Given the description of an element on the screen output the (x, y) to click on. 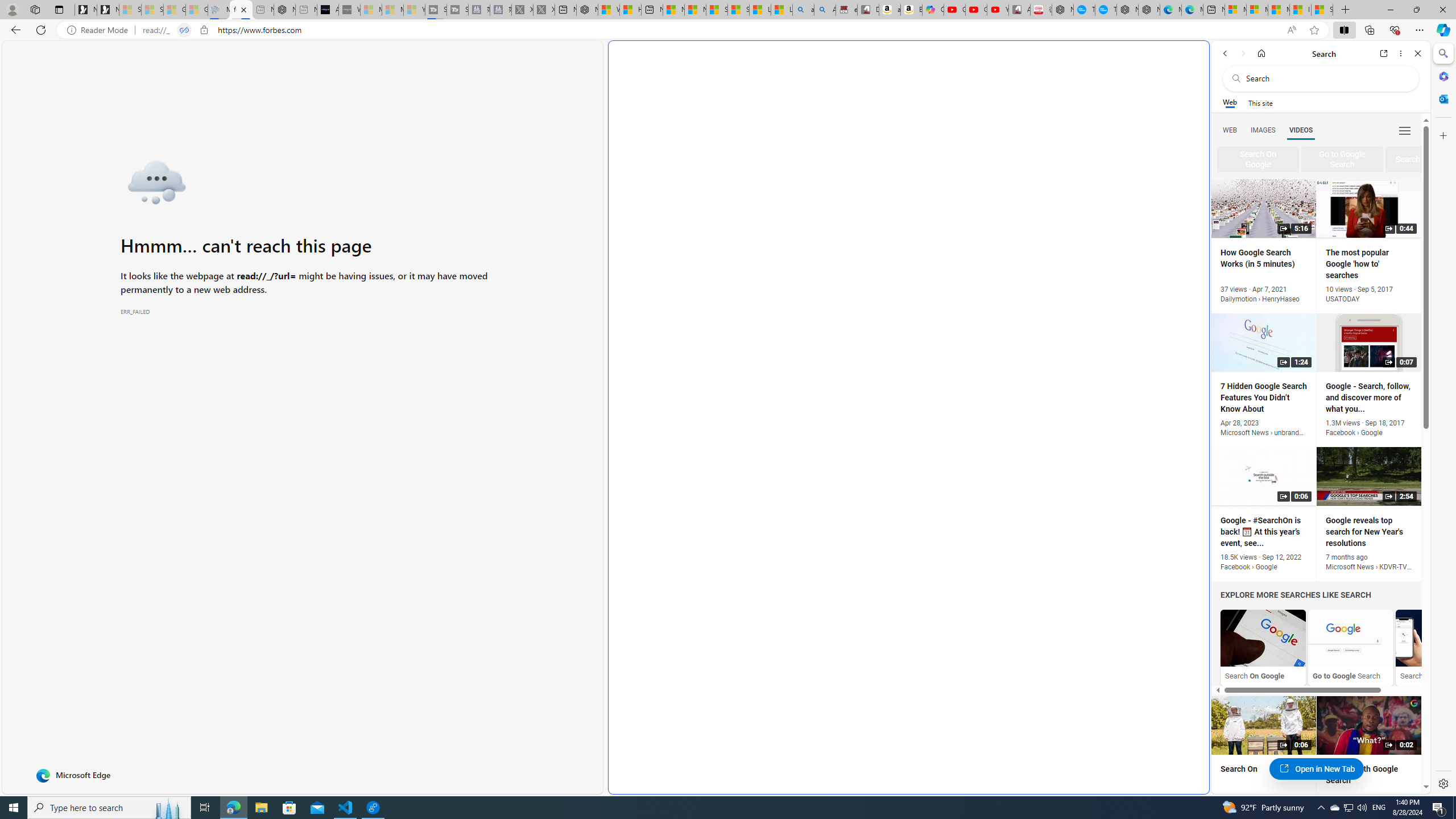
Class: b_serphb (1404, 130)
The most popular Google 'how to' searches (1105, 9)
Side bar (1443, 418)
This site scope (1259, 102)
Web scope (1230, 102)
